Given the description of an element on the screen output the (x, y) to click on. 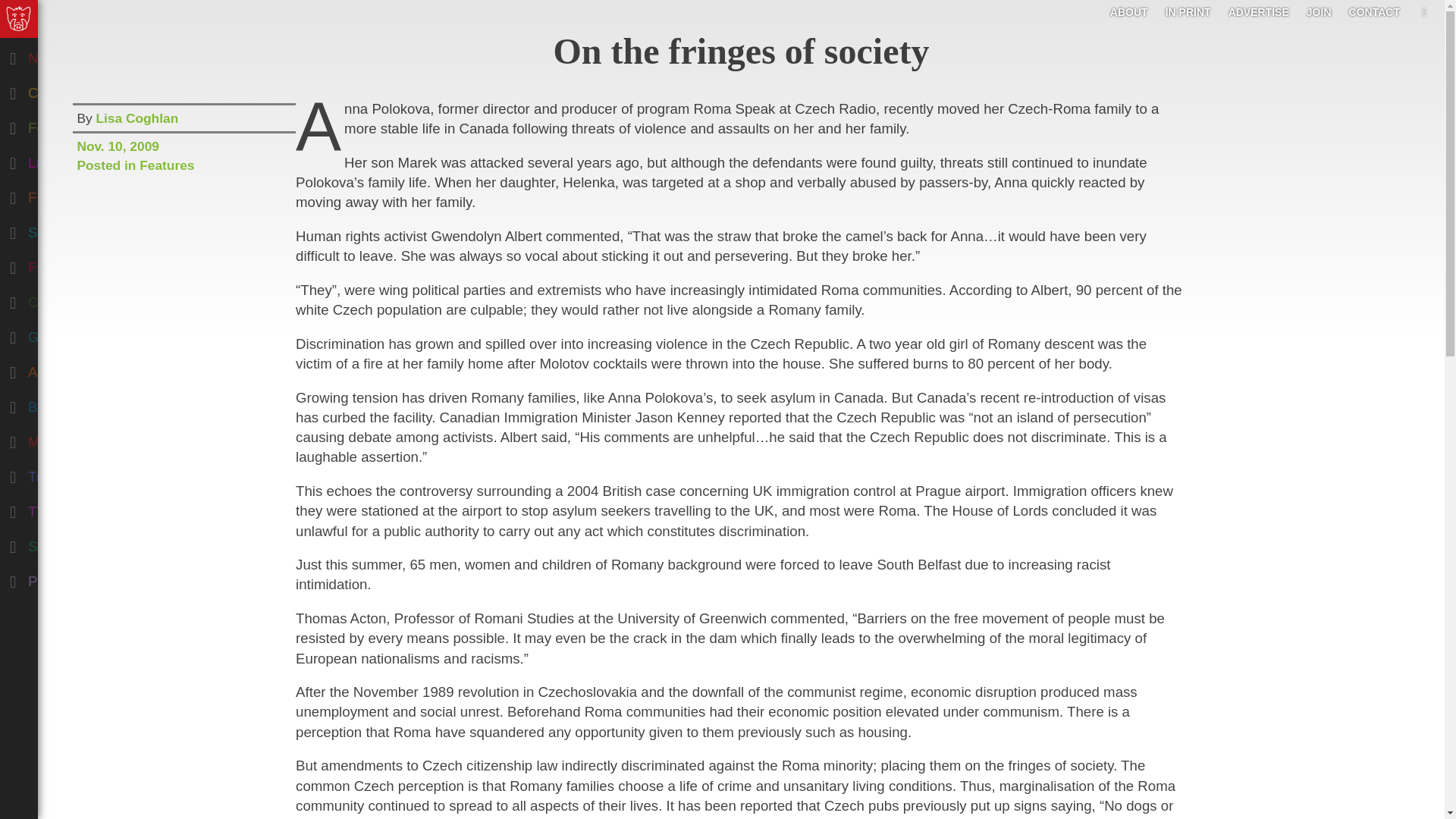
Travel (79, 473)
Posted in (108, 165)
Podcasts (79, 578)
Games (79, 334)
Sport (79, 543)
CONTACT (1374, 11)
Arts (79, 369)
Nov. 10, 2009 (183, 144)
ADVERTISE (1258, 11)
Music (79, 438)
Books (79, 403)
On the fringes of society (741, 51)
Finance (79, 194)
JOIN (1319, 11)
Climate (79, 298)
